Given the description of an element on the screen output the (x, y) to click on. 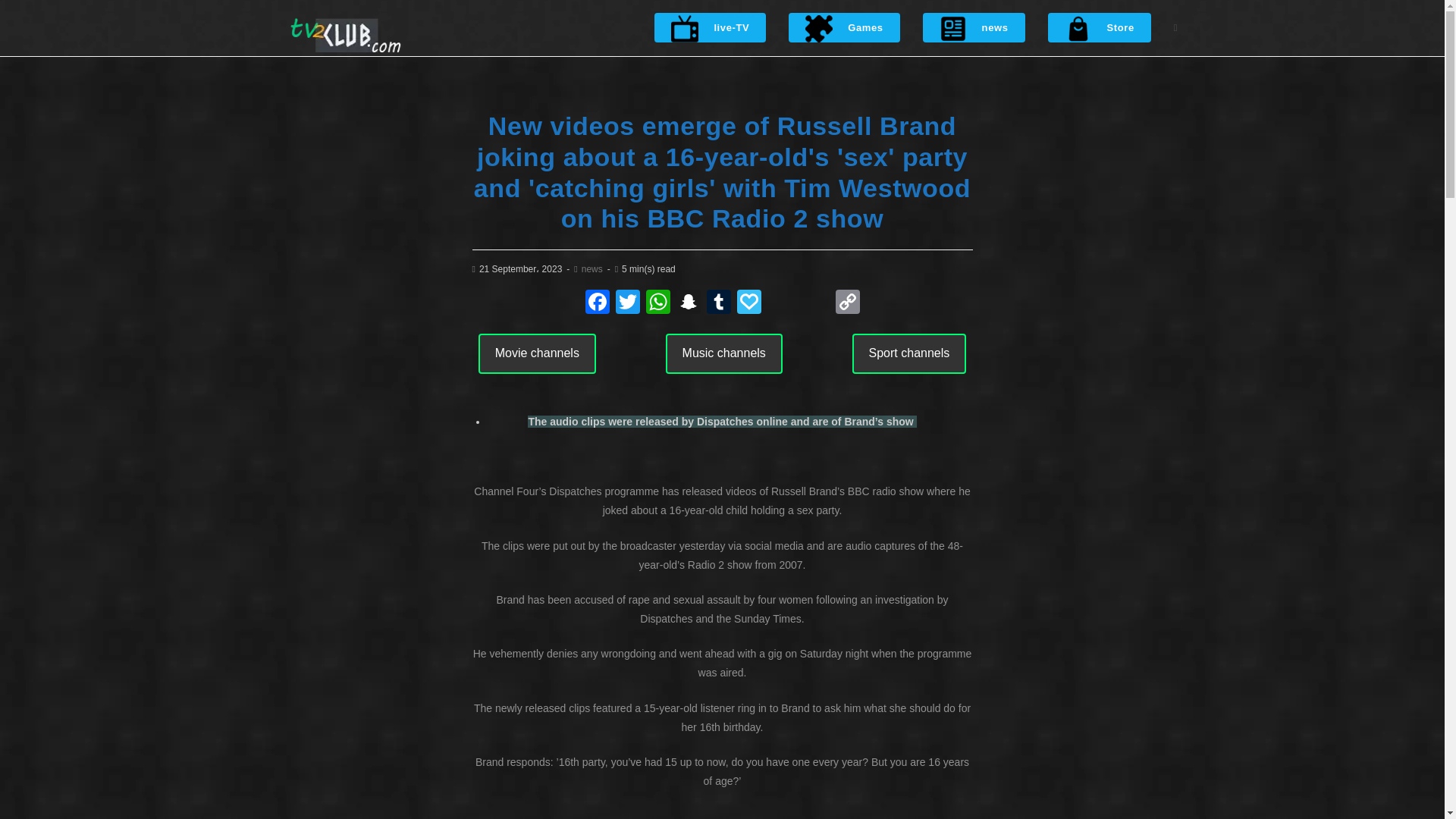
Snapchat (687, 303)
WhatsApp (657, 303)
Tumblr (718, 303)
Facebook (597, 303)
Games (844, 28)
Tumblr (718, 303)
Store (1098, 28)
news (591, 268)
WhatsApp (657, 303)
Copy Link (847, 303)
news (973, 28)
Papaly (748, 303)
Snapchat (687, 303)
Facebook (597, 303)
Sport channels (908, 353)
